Given the description of an element on the screen output the (x, y) to click on. 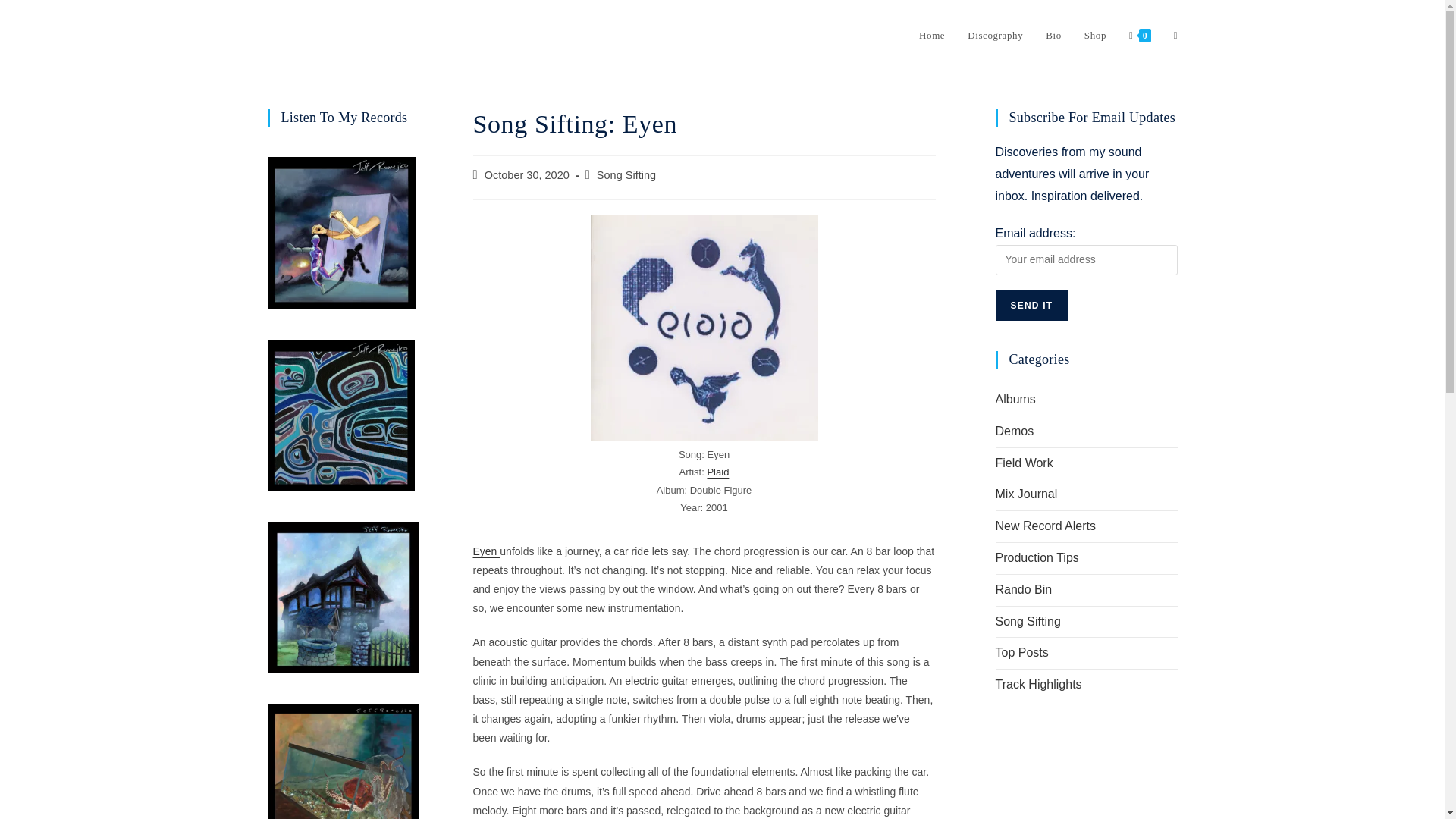
Song Sifting (626, 174)
Eyen (486, 551)
Send It (1030, 305)
Discography (994, 35)
Plaid (717, 471)
